Given the description of an element on the screen output the (x, y) to click on. 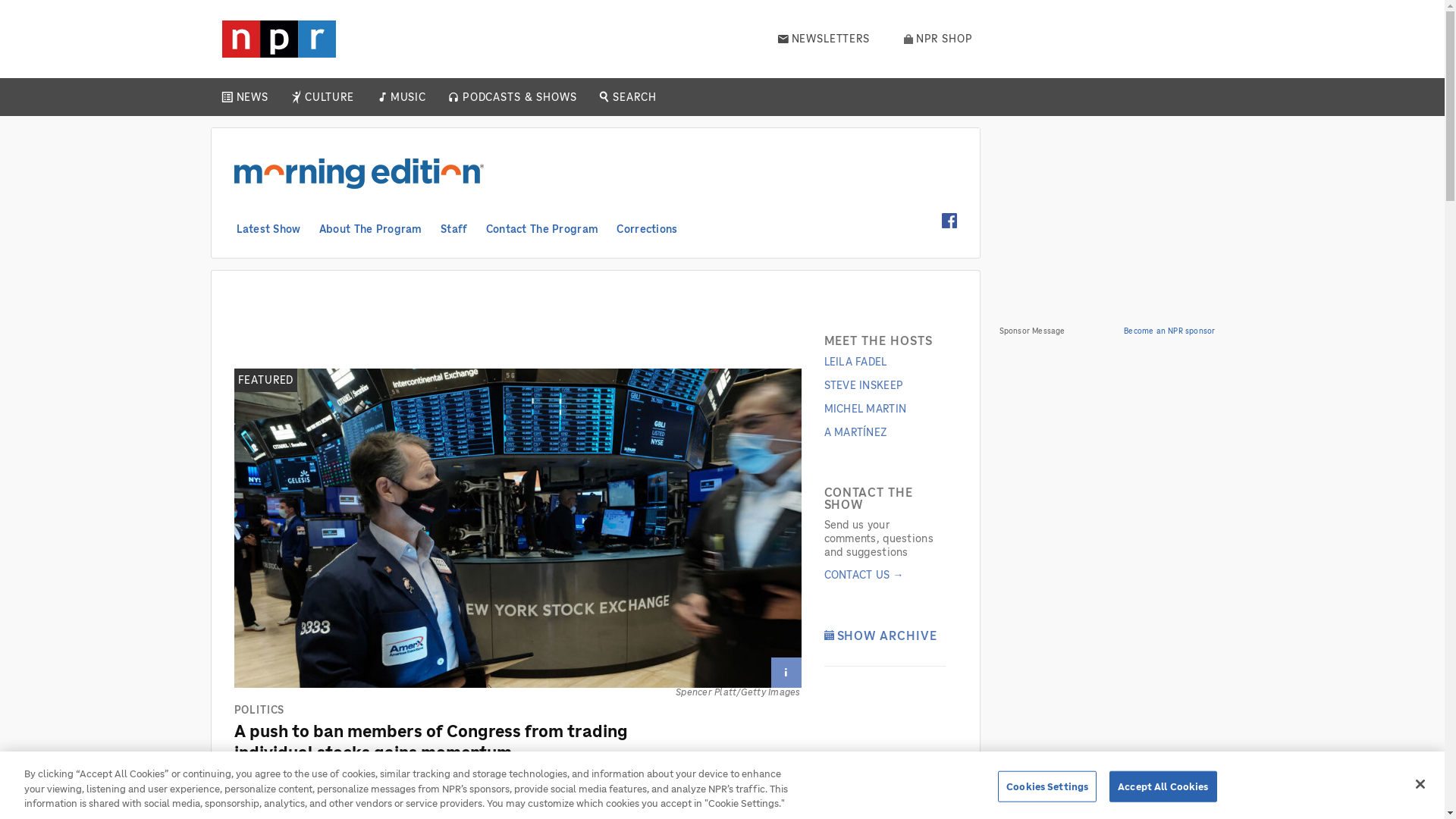
NPR SHOP (938, 38)
NEWS (251, 96)
NEWSLETTERS (823, 38)
MUSIC (407, 96)
CULTURE (328, 96)
